Given the description of an element on the screen output the (x, y) to click on. 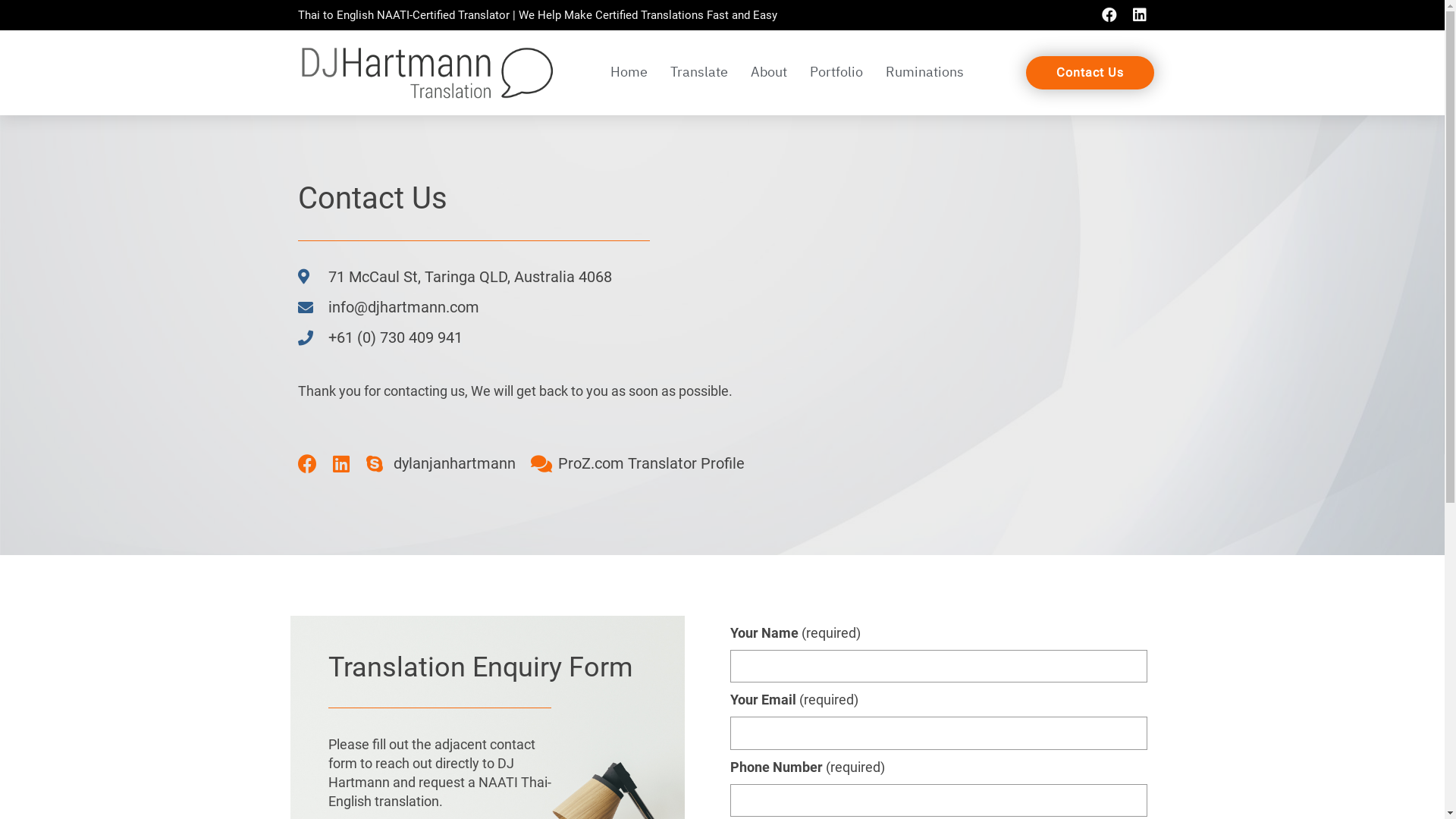
Contact Us Element type: text (1090, 72)
70 McCaul St, Taringa QLD, Australia 4068 Element type: hover (980, 334)
+61 (0) 730 409 941 Element type: text (548, 337)
info@djhartmann.com Element type: text (548, 307)
Home Element type: text (628, 72)
ProZ.com Translator Profile Element type: text (637, 463)
Translate Element type: text (698, 72)
Portfolio Element type: text (835, 72)
About Element type: text (767, 72)
Ruminations Element type: text (923, 72)
